Given the description of an element on the screen output the (x, y) to click on. 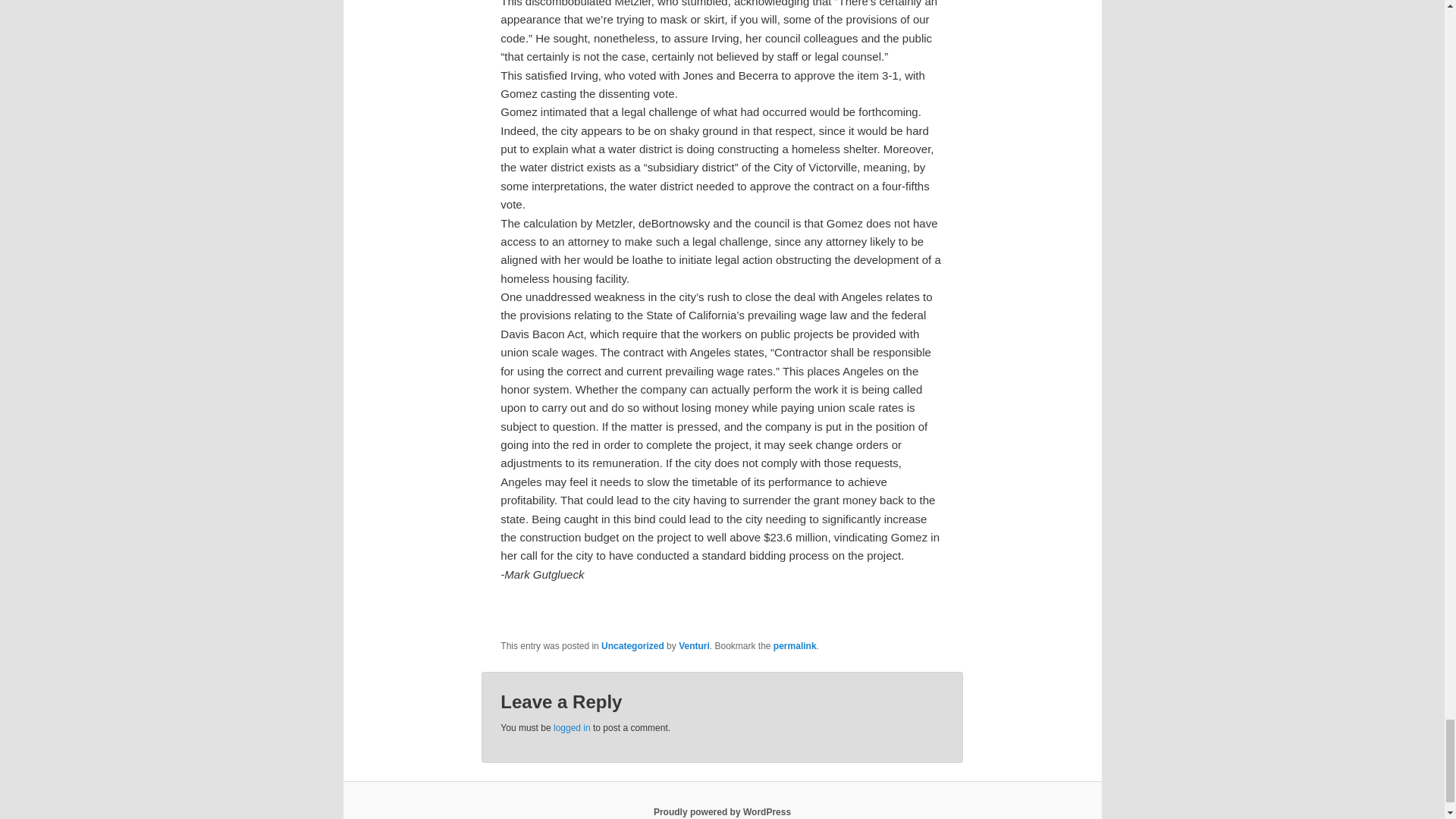
Proudly powered by WordPress (721, 811)
Venturi (694, 645)
Uncategorized (632, 645)
permalink (794, 645)
logged in (572, 727)
Semantic Personal Publishing Platform (721, 811)
